Given the description of an element on the screen output the (x, y) to click on. 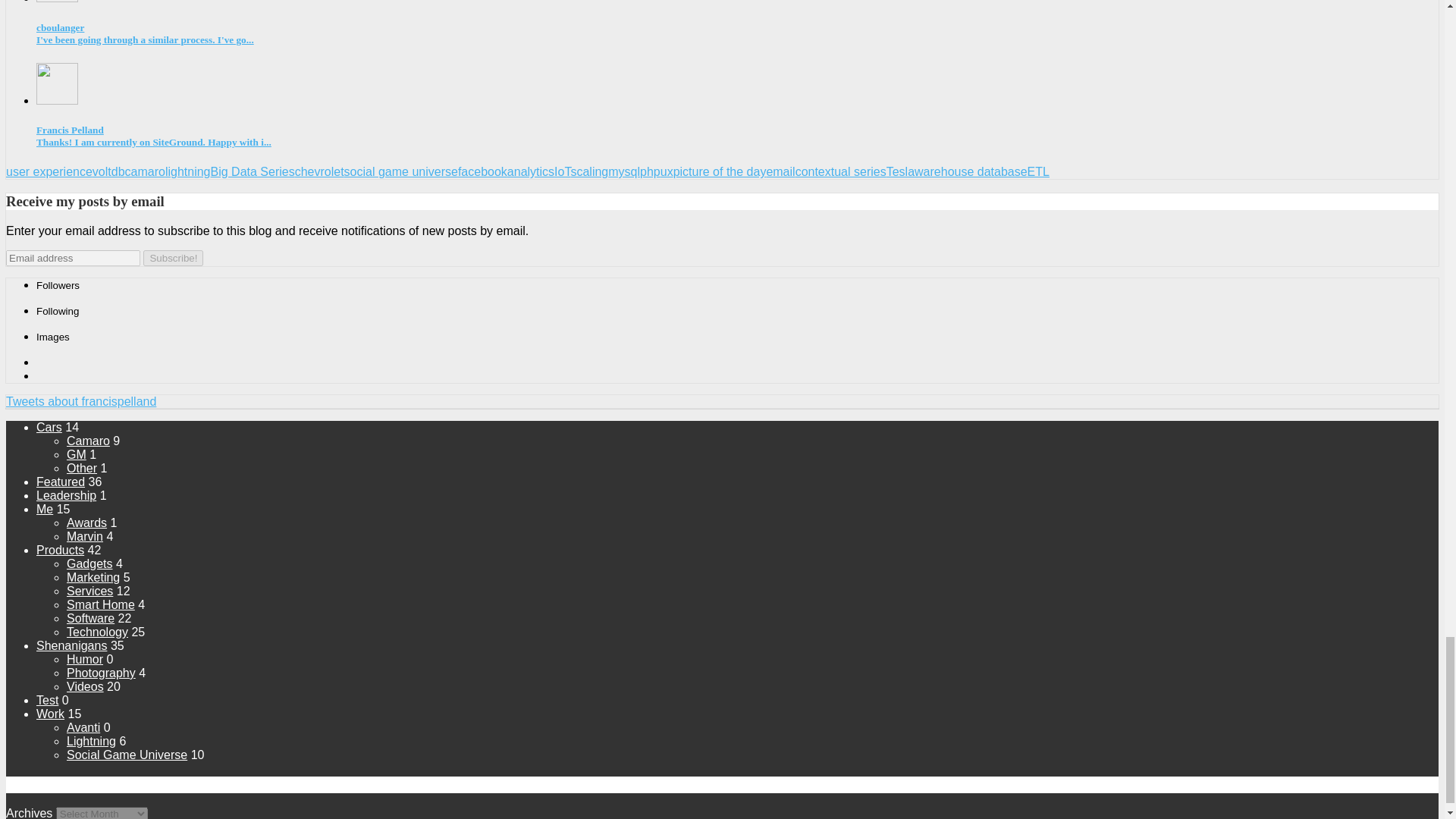
user experience Tag (49, 171)
